Given the description of an element on the screen output the (x, y) to click on. 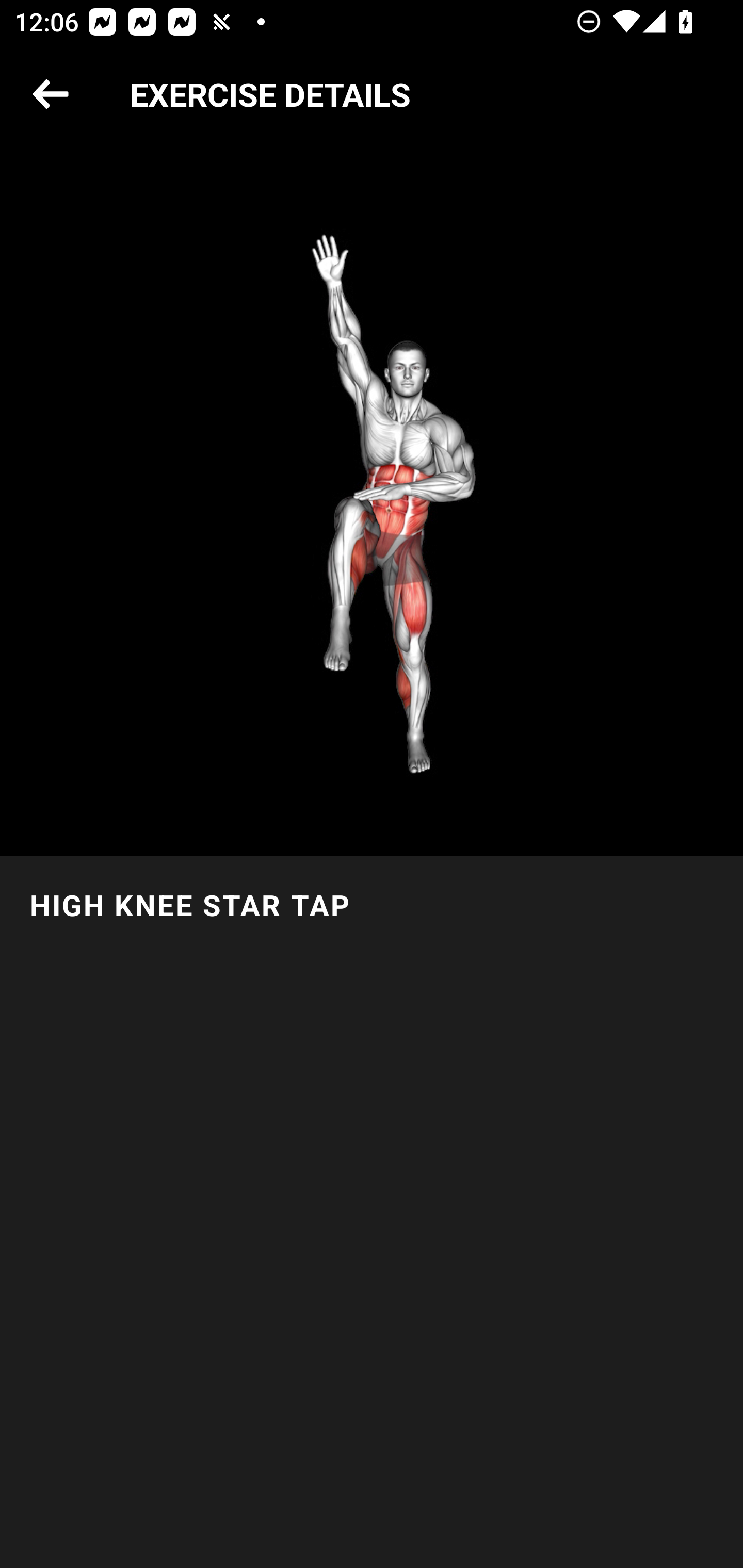
Back Icon (50, 94)
